Given the description of an element on the screen output the (x, y) to click on. 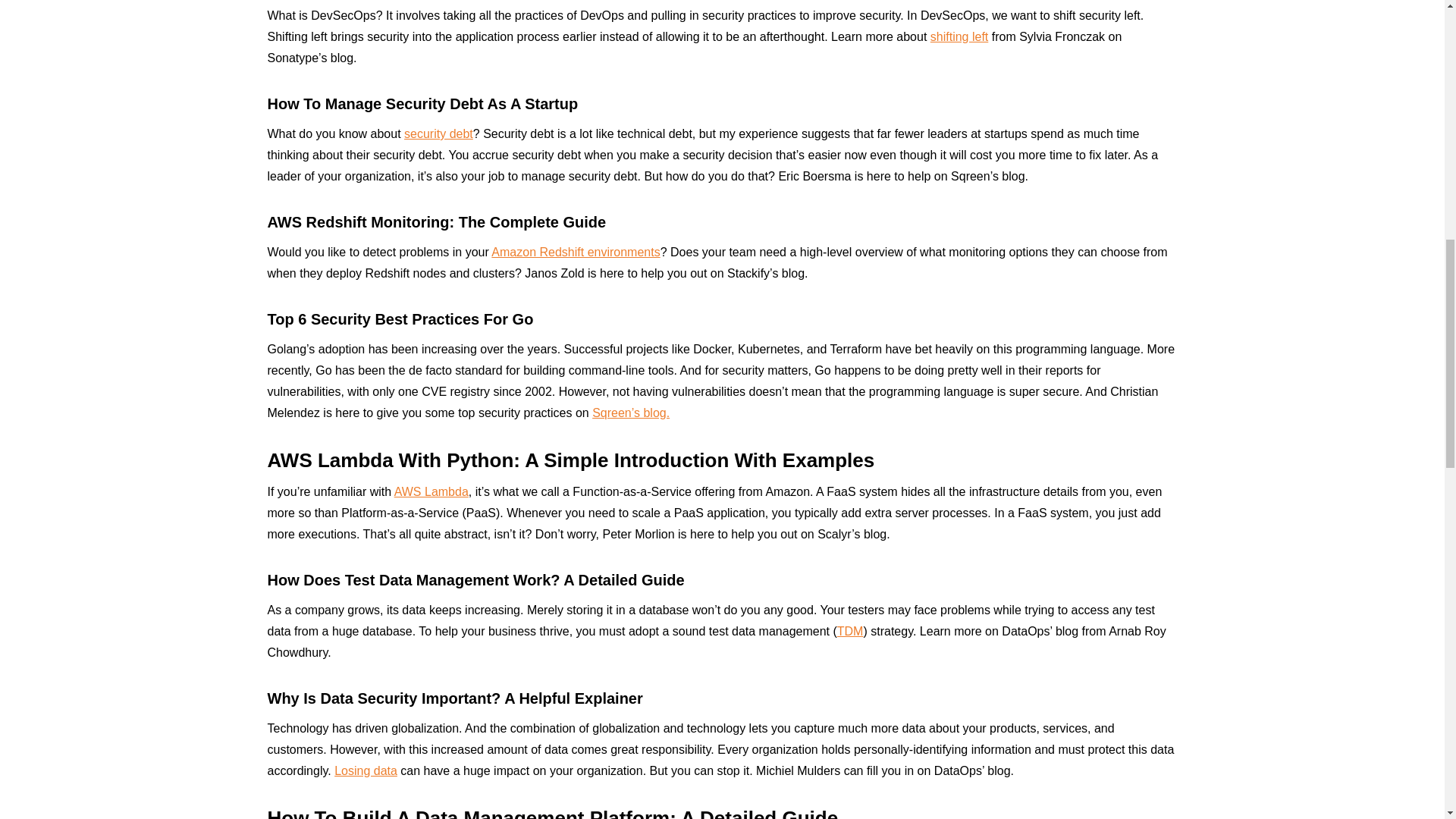
security debt (438, 133)
shifting left (959, 36)
Amazon Redshift environments (575, 251)
Losing data (365, 770)
TDM (850, 631)
AWS Lambda (431, 491)
